Given the description of an element on the screen output the (x, y) to click on. 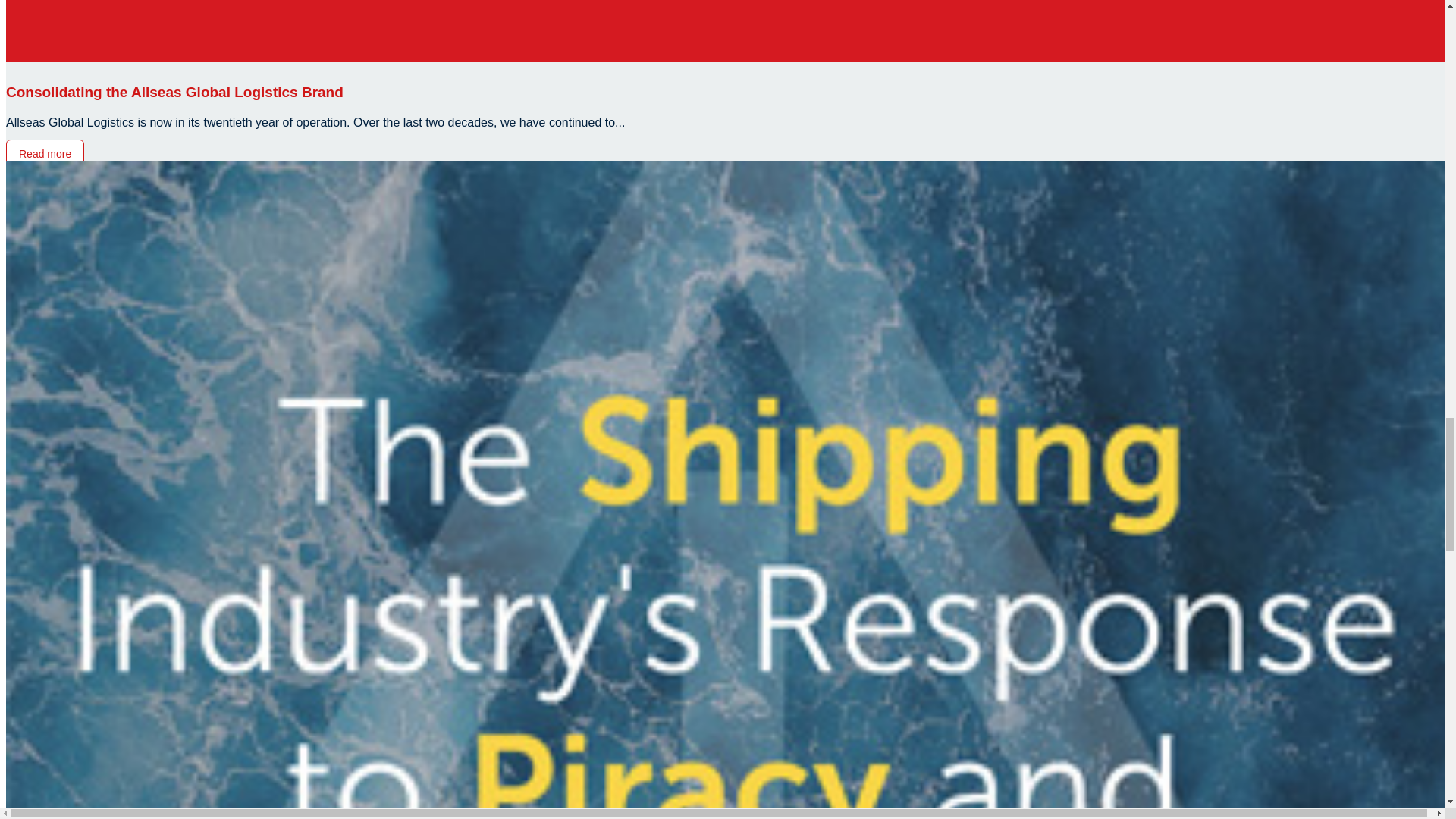
Read more (44, 153)
